Given the description of an element on the screen output the (x, y) to click on. 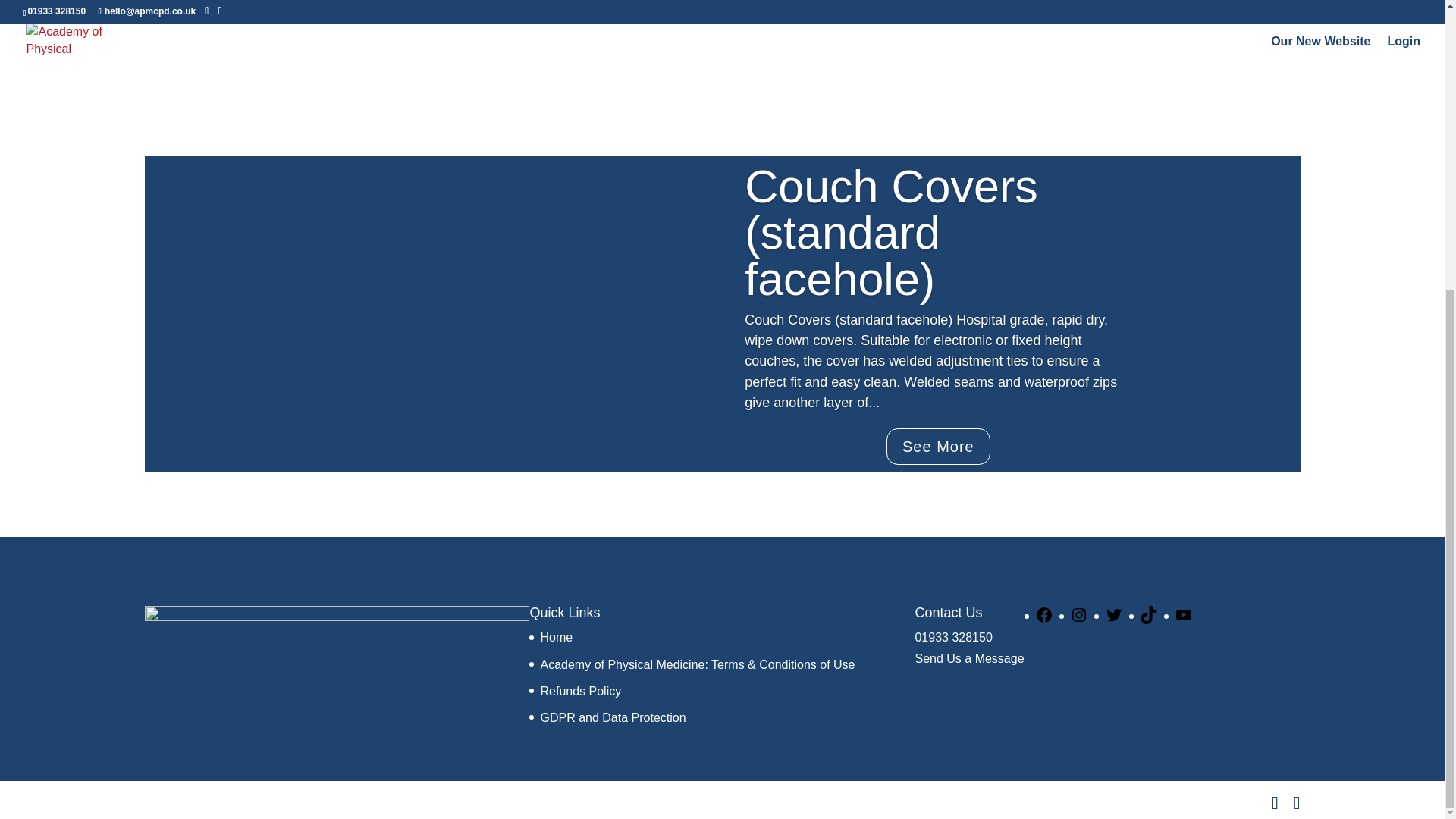
GDPR and Data Protection (612, 717)
See More (938, 446)
Add to Cart (487, 7)
01933 328150 (952, 636)
Instagram (1078, 619)
Refunds Policy (580, 690)
Send Us a Message (968, 658)
Home (556, 636)
TikTok (1148, 619)
YouTube (1183, 619)
